Given the description of an element on the screen output the (x, y) to click on. 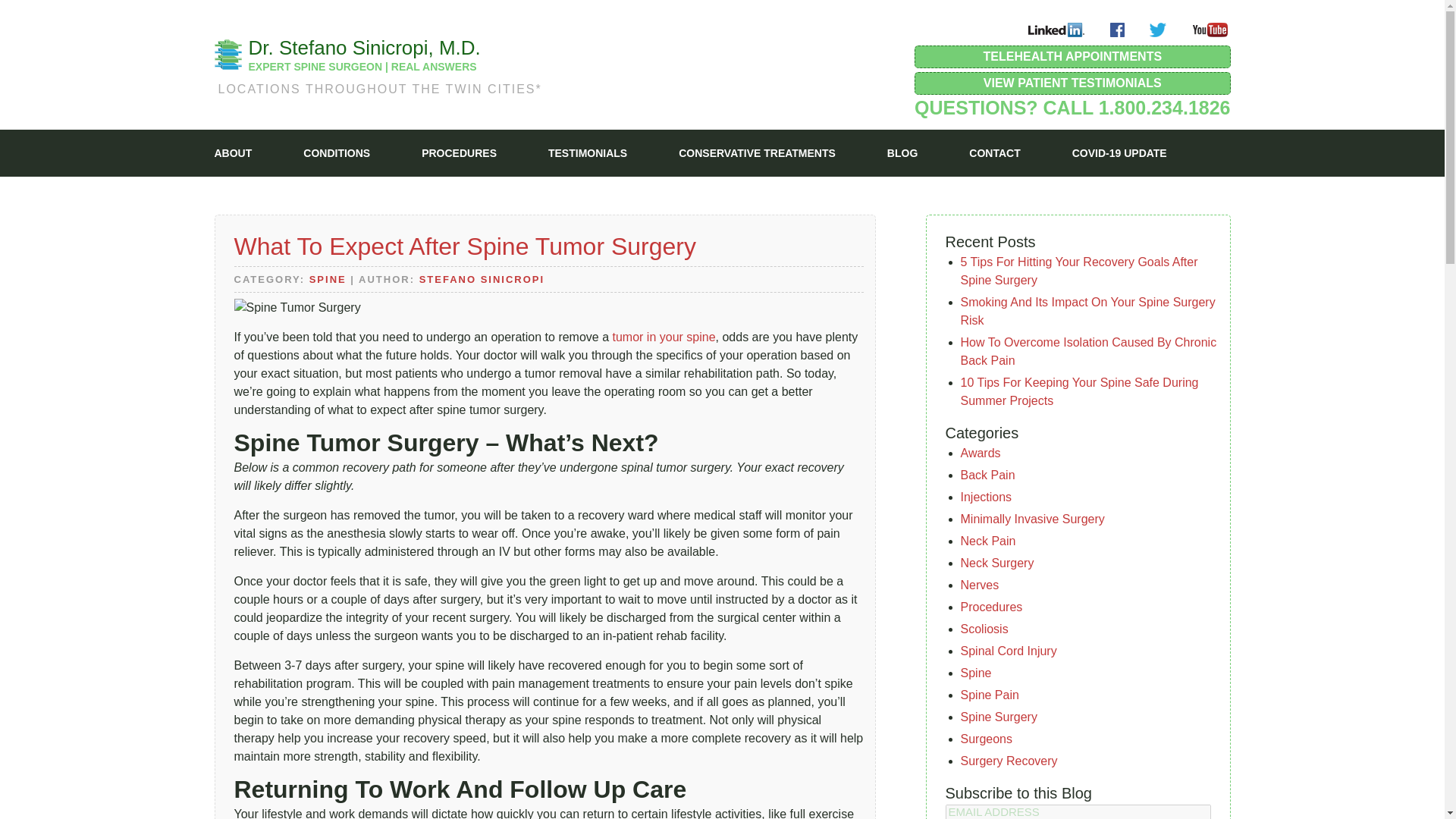
ABOUT (232, 152)
Dr. Stefano Sinicropi, M.D. (364, 47)
PROCEDURES (459, 152)
QUESTIONS? CALL 1.800.234.1826 (1072, 107)
LinkedIn (1055, 29)
What To Expect After Spine Tumor Surgery (463, 246)
CONTACT (994, 152)
COVID-19 UPDATE (1119, 152)
CONSERVATIVE TREATMENTS (756, 152)
SPINE (327, 279)
VIEW PATIENT TESTIMONIALS (1072, 83)
CONDITIONS (335, 152)
Youtube (1209, 29)
BLOG (901, 152)
TESTIMONIALS (587, 152)
